Given the description of an element on the screen output the (x, y) to click on. 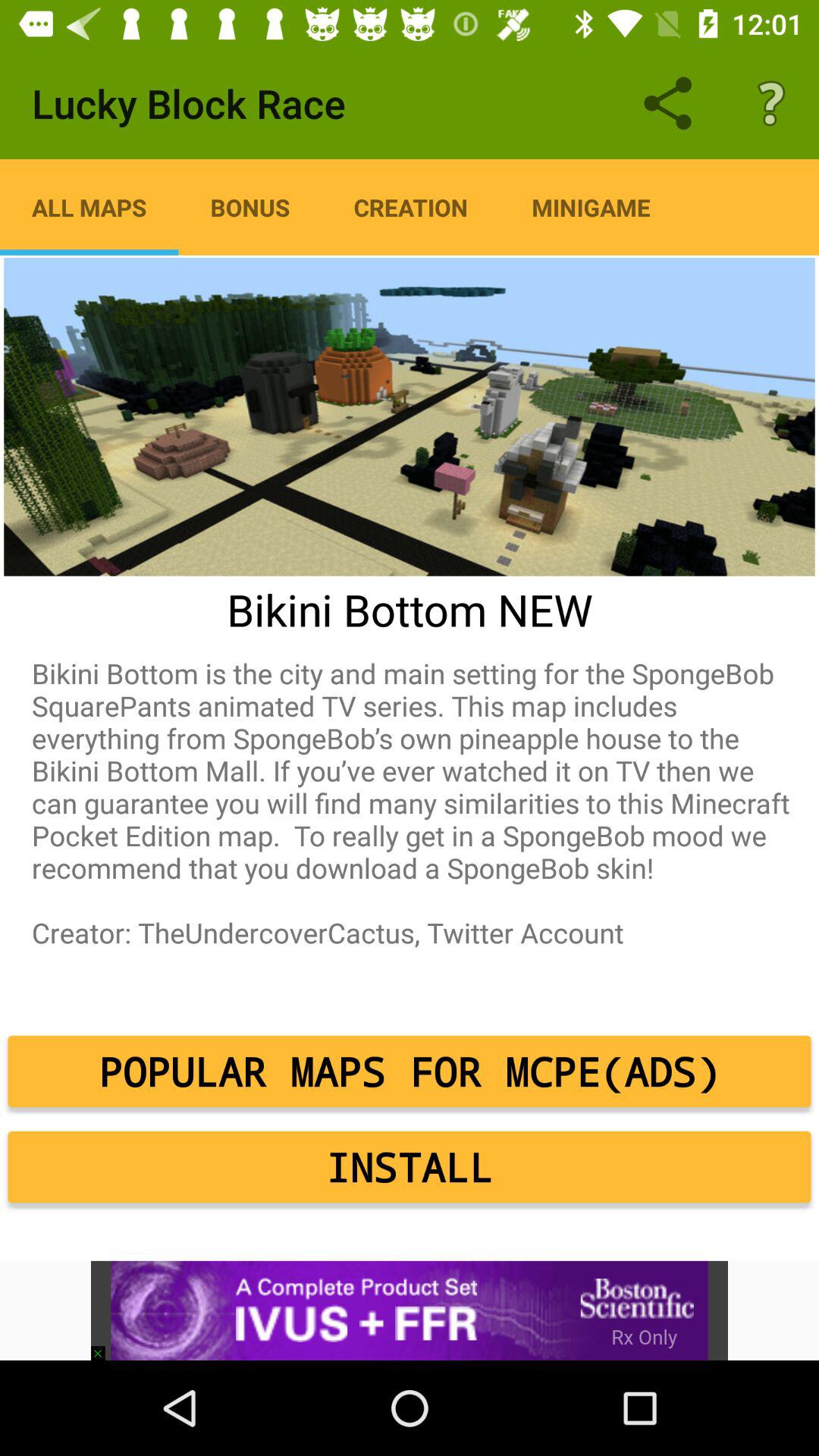
launch icon below the lucky block race item (89, 207)
